Given the description of an element on the screen output the (x, y) to click on. 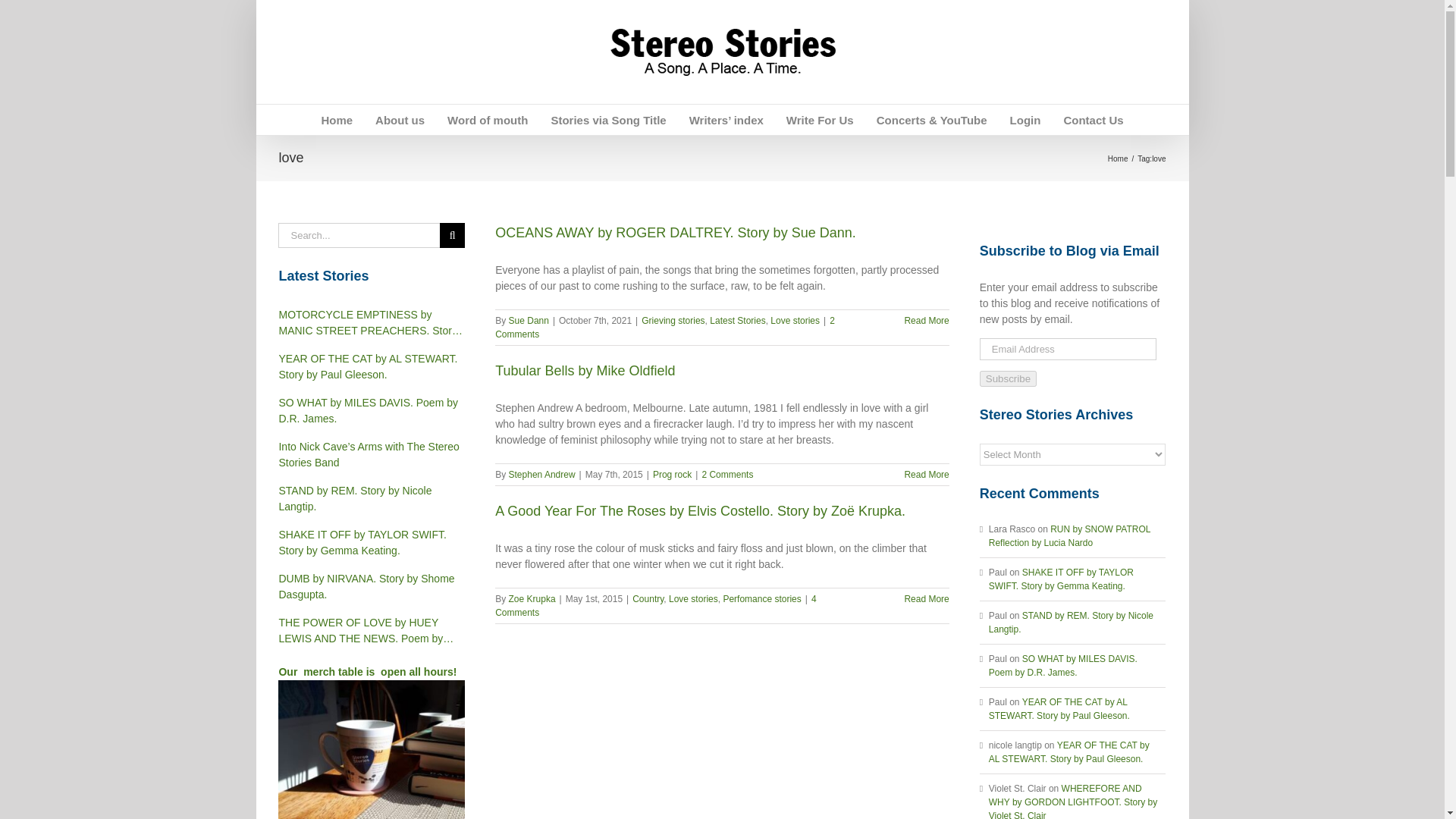
Home (336, 119)
Posts by Stephen Andrew (541, 474)
Word of mouth (486, 119)
Home (1118, 158)
Love stories (794, 320)
Tubular Bells by Mike Oldfield (585, 370)
Grieving stories (673, 320)
Posts by Sue Dann (528, 320)
Sue Dann (528, 320)
Read More (926, 320)
Login (1025, 119)
Write For Us (819, 119)
Posts by Zoe Krupka (532, 598)
Contact Us (1092, 119)
2 Comments (664, 327)
